Given the description of an element on the screen output the (x, y) to click on. 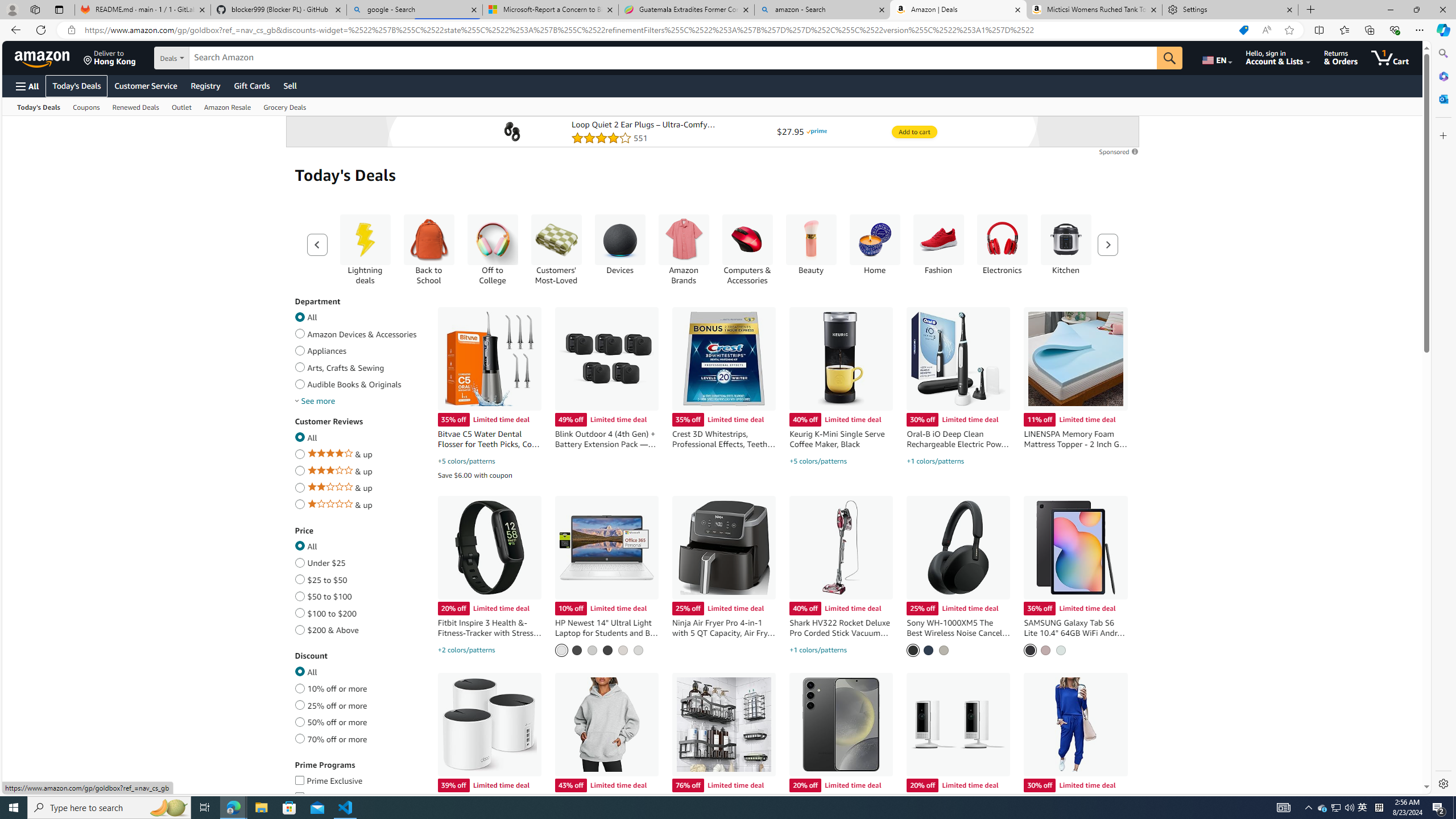
Skip to main content (48, 56)
Electronics (1001, 239)
Off to College (492, 249)
Sell (290, 85)
Search Amazon (673, 57)
Amazon Brands (683, 249)
Side bar (1443, 418)
Beauty (810, 239)
Average review star rating of 2 and up (299, 485)
Beauty Beauty (810, 244)
1 item in cart (1389, 57)
Microsoft-Report a Concern to Bing (550, 9)
